Given the description of an element on the screen output the (x, y) to click on. 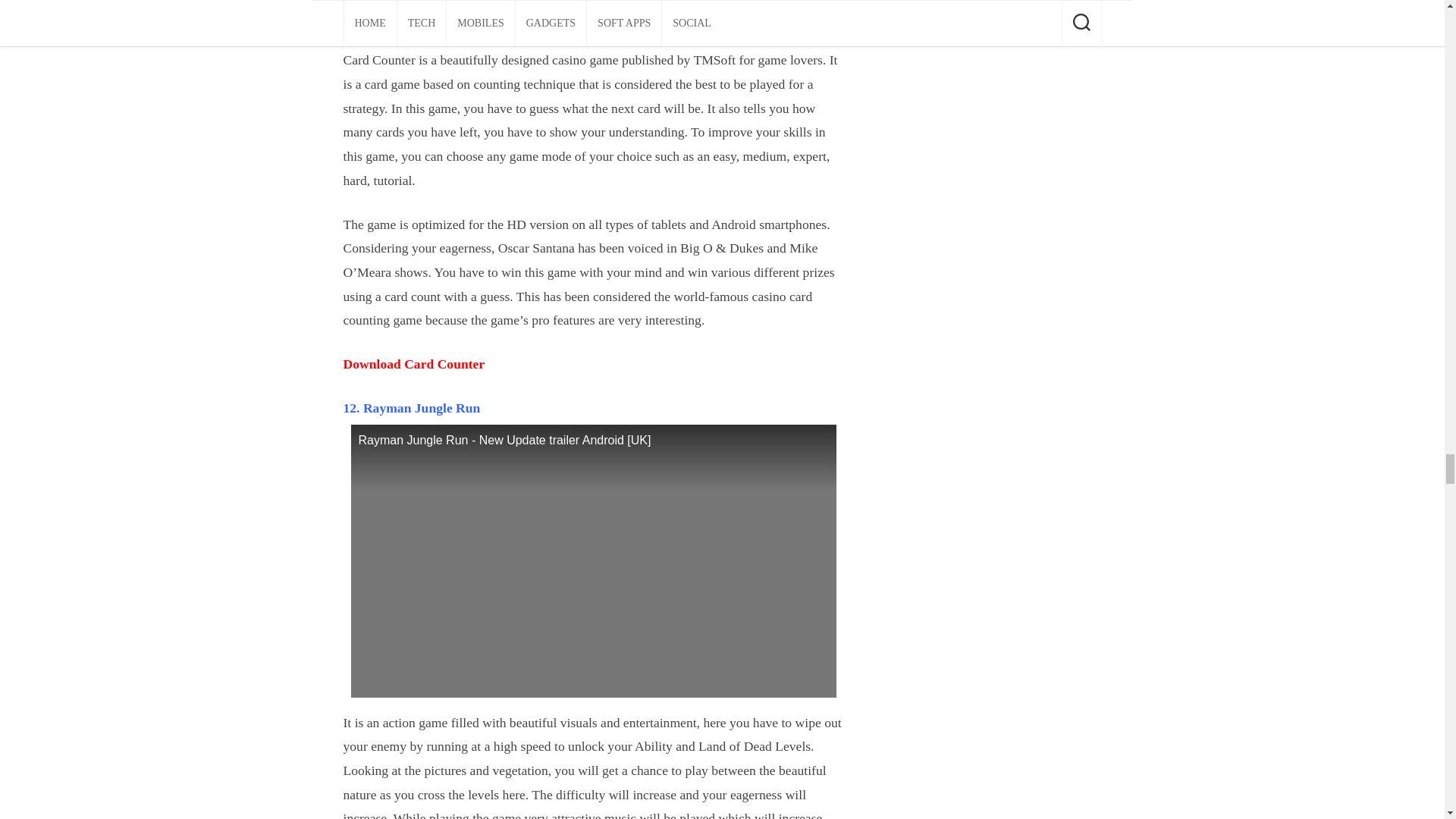
Download Card Counter (413, 363)
